Given the description of an element on the screen output the (x, y) to click on. 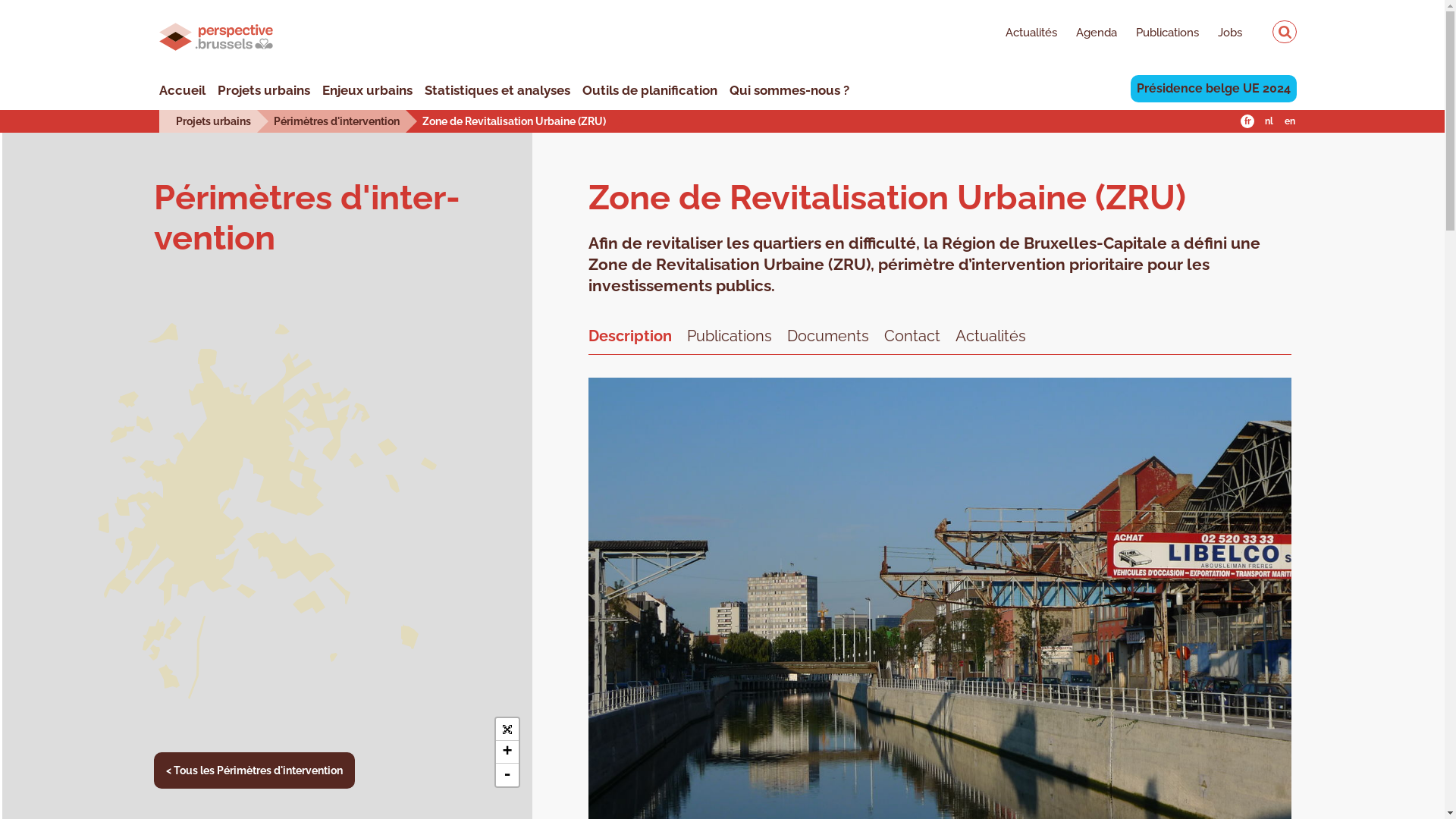
- Element type: text (506, 774)
fr Element type: text (1247, 121)
en Element type: text (1289, 121)
Projets urbains Element type: text (213, 120)
Documents Element type: text (828, 334)
Enjeux urbains Element type: text (367, 89)
Publications Element type: text (729, 334)
+ Element type: text (506, 751)
nl Element type: text (1268, 121)
Accueil Element type: text (182, 89)
Zone de Revitalisation Urbaine (ZRU) Element type: text (513, 120)
Agenda Element type: text (1087, 33)
Description Element type: text (629, 334)
Projets urbains Element type: text (263, 89)
Qui sommes-nous ? Element type: text (789, 89)
Outils de planification Element type: text (649, 89)
Statistiques et analyses Element type: text (497, 89)
Jobs Element type: text (1220, 33)
Publications Element type: text (1157, 33)
Appliquer Element type: text (1284, 31)
Contact Element type: text (912, 334)
